Given the description of an element on the screen output the (x, y) to click on. 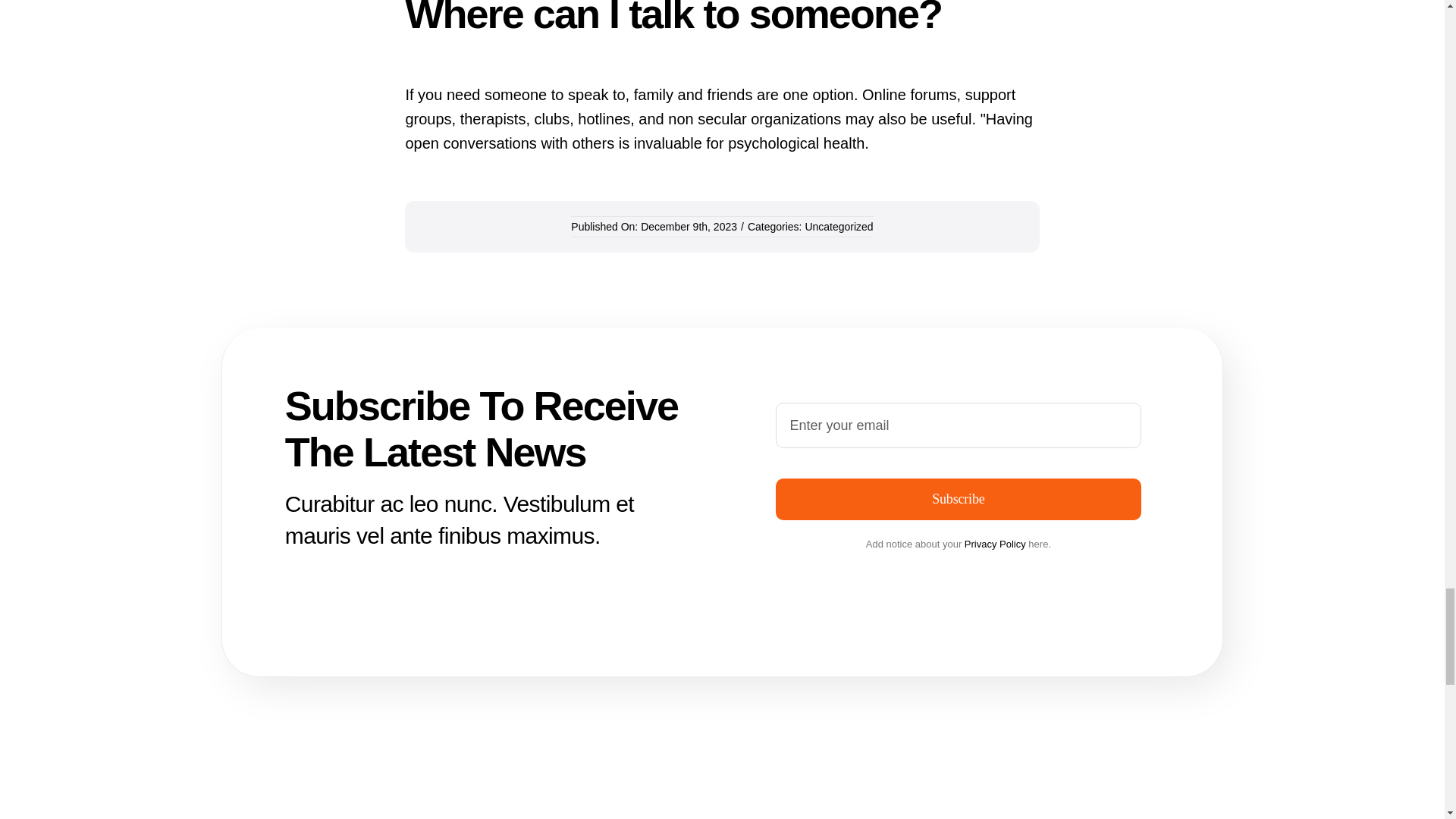
Uncategorized (838, 226)
Subscribe (957, 499)
Privacy Policy (994, 543)
Subscribe (958, 460)
